Given the description of an element on the screen output the (x, y) to click on. 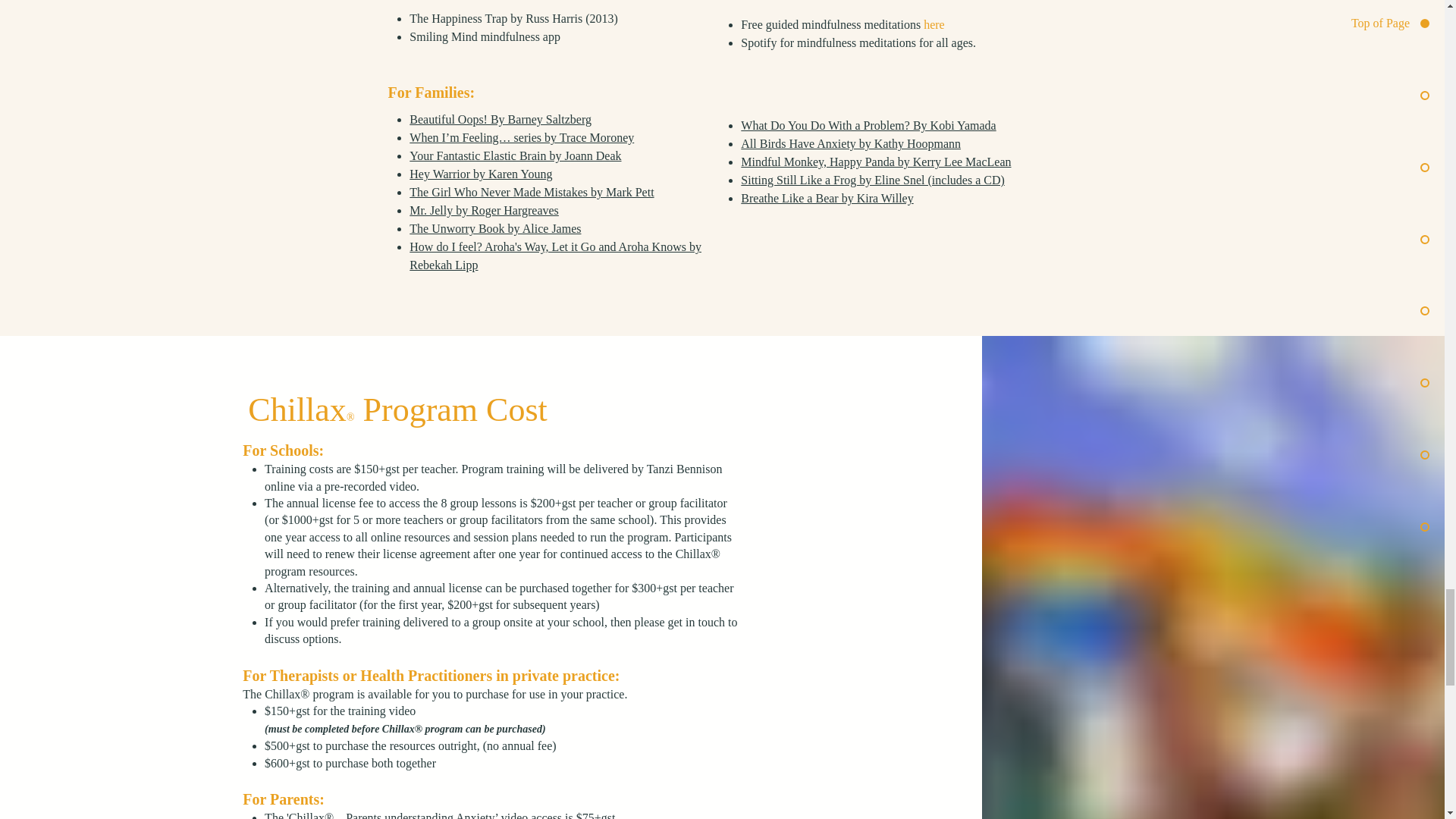
Hey Warrior by Karen Young (480, 173)
What Do You Do With a Problem? By Kobi Yamada (868, 124)
Mr. Jelly by Roger Hargreaves (484, 210)
Beautiful Oops! By Barney Saltzberg (500, 119)
Breathe Like a Bear by Kira Willey (826, 197)
Mindful Monkey, Happy Panda by Kerry Lee MacLean (875, 161)
Your Fantastic Elastic Brain by Joann Deak (515, 155)
here  (935, 24)
The Girl Who Never Made Mistakes by Mark Pett (531, 192)
